Given the description of an element on the screen output the (x, y) to click on. 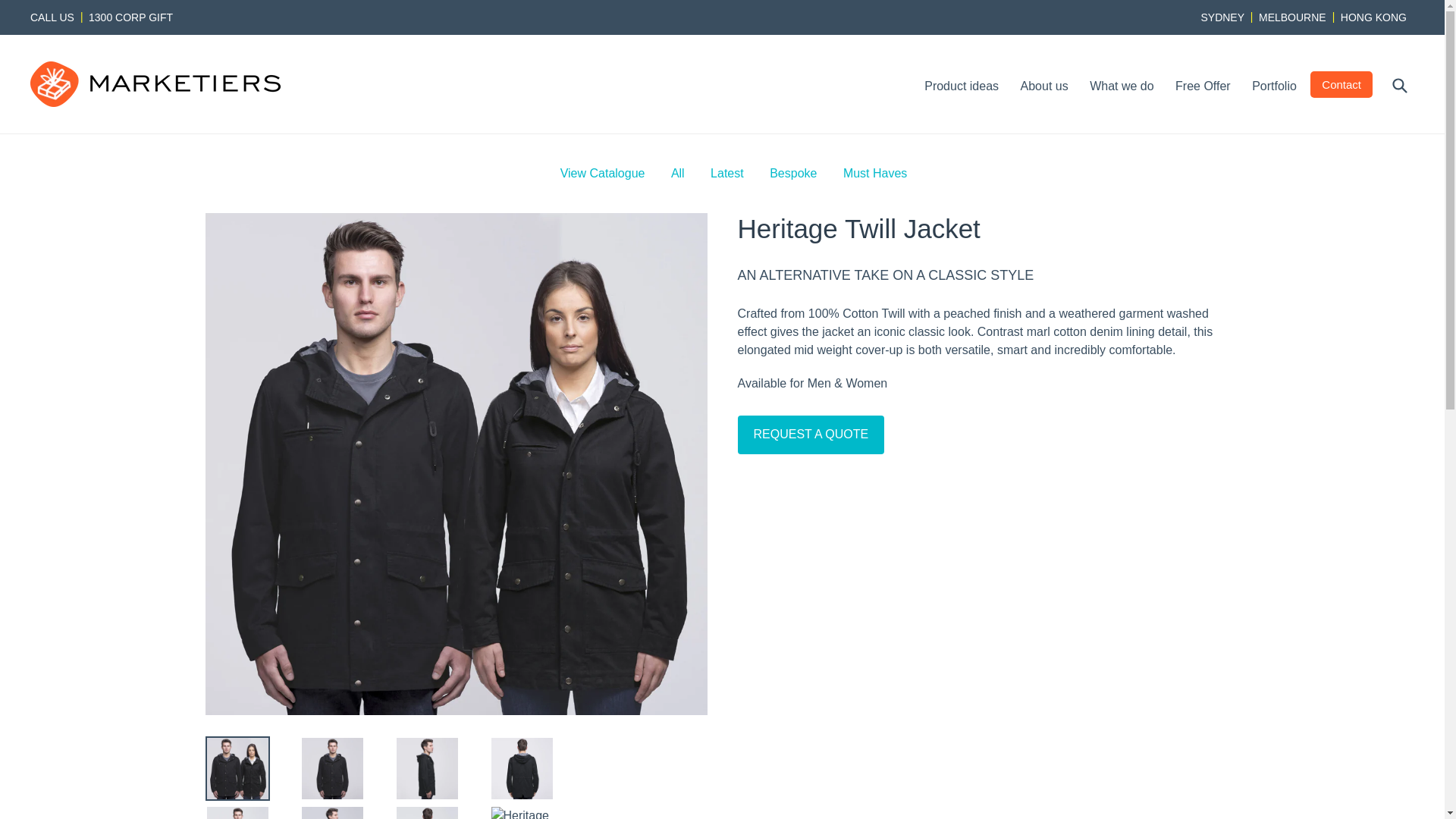
Contact Element type: text (1341, 84)
View Catalogue Element type: text (602, 173)
About us Element type: text (1044, 85)
All Element type: text (677, 173)
Product ideas Element type: text (961, 85)
REQUEST A QUOTE Element type: text (810, 434)
Portfolio Element type: text (1274, 85)
Bespoke Element type: text (792, 173)
Must Haves Element type: text (874, 173)
Free Offer Element type: text (1202, 85)
Search Element type: text (1400, 84)
Latest Element type: text (726, 173)
What we do Element type: text (1121, 85)
